Given the description of an element on the screen output the (x, y) to click on. 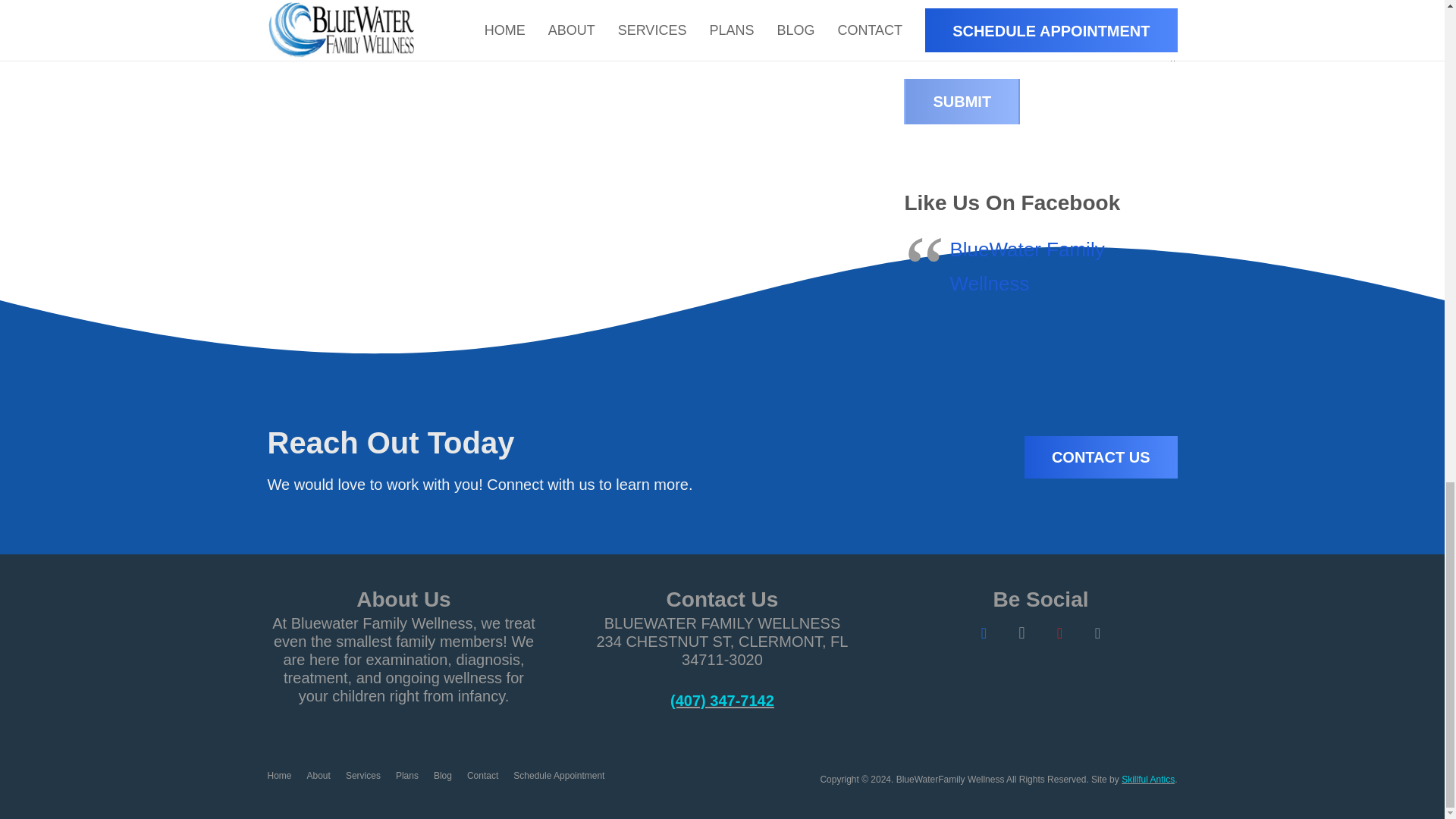
Contact (482, 775)
Skillful Antics (1147, 778)
About (318, 775)
Email (1097, 632)
Submit (962, 101)
Plans (407, 775)
CONTACT US (1101, 456)
Services (363, 775)
Yelp (1059, 632)
Submit (962, 101)
Blog (442, 775)
Instagram (1022, 632)
Schedule Appointment (558, 775)
Facebook (983, 632)
Home (278, 775)
